Given the description of an element on the screen output the (x, y) to click on. 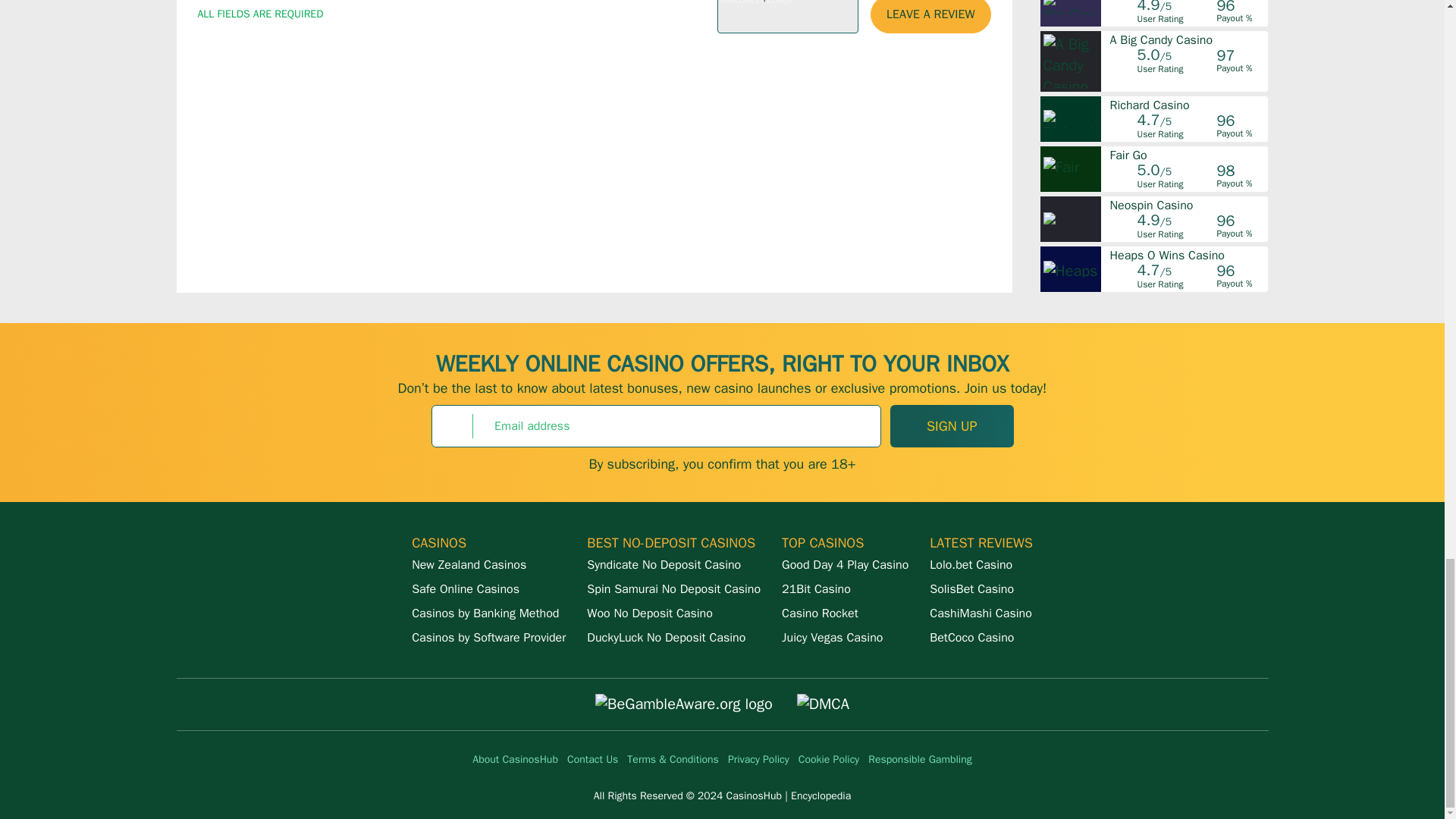
Fair Go (1187, 155)
Richard Casino (1187, 105)
Neospin Casino (1187, 205)
Heaps O Wins Casino (1187, 255)
A Big Candy Casino (1187, 39)
